Given the description of an element on the screen output the (x, y) to click on. 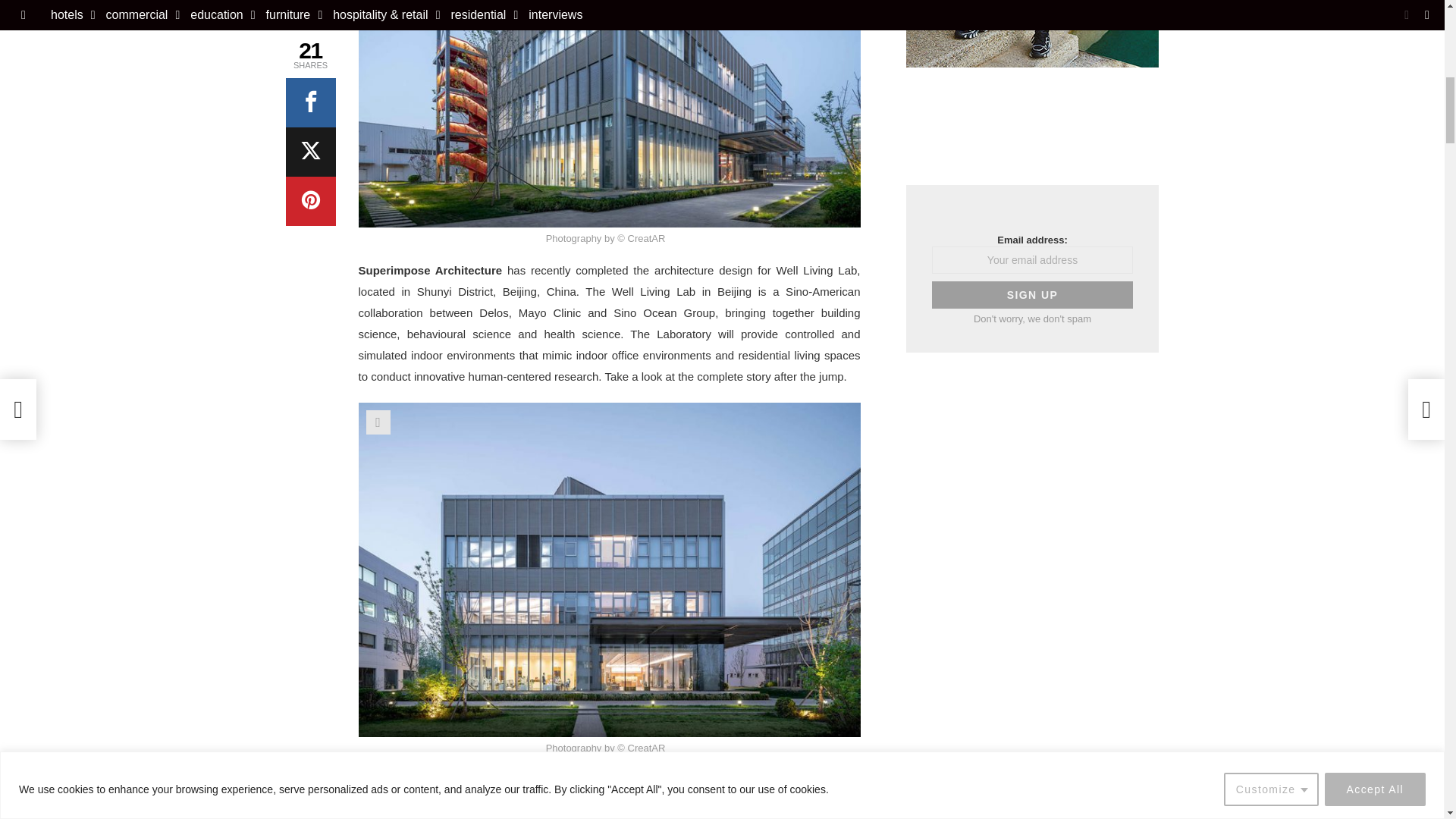
Sign up (1031, 294)
